Given the description of an element on the screen output the (x, y) to click on. 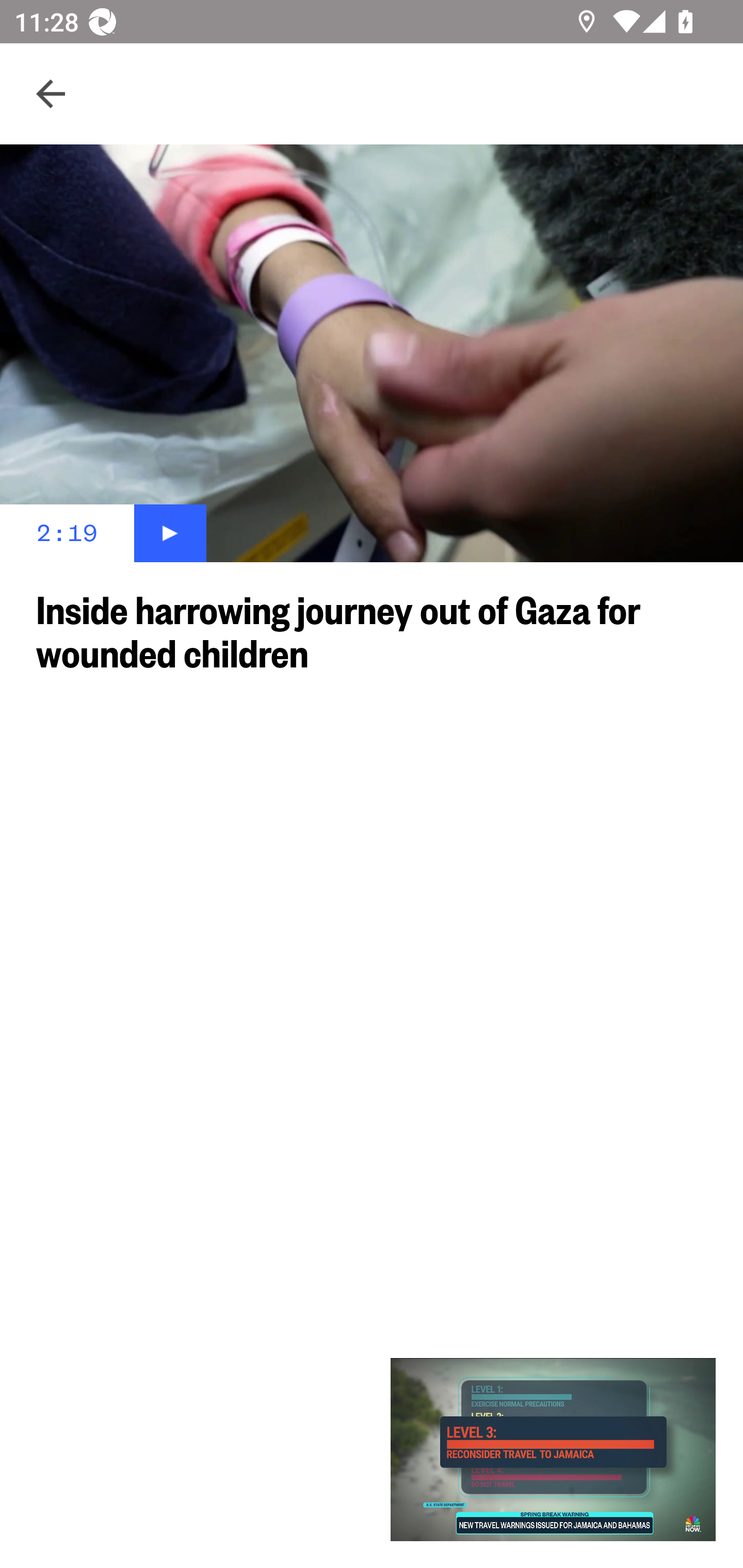
Navigate up (50, 93)
